Given the description of an element on the screen output the (x, y) to click on. 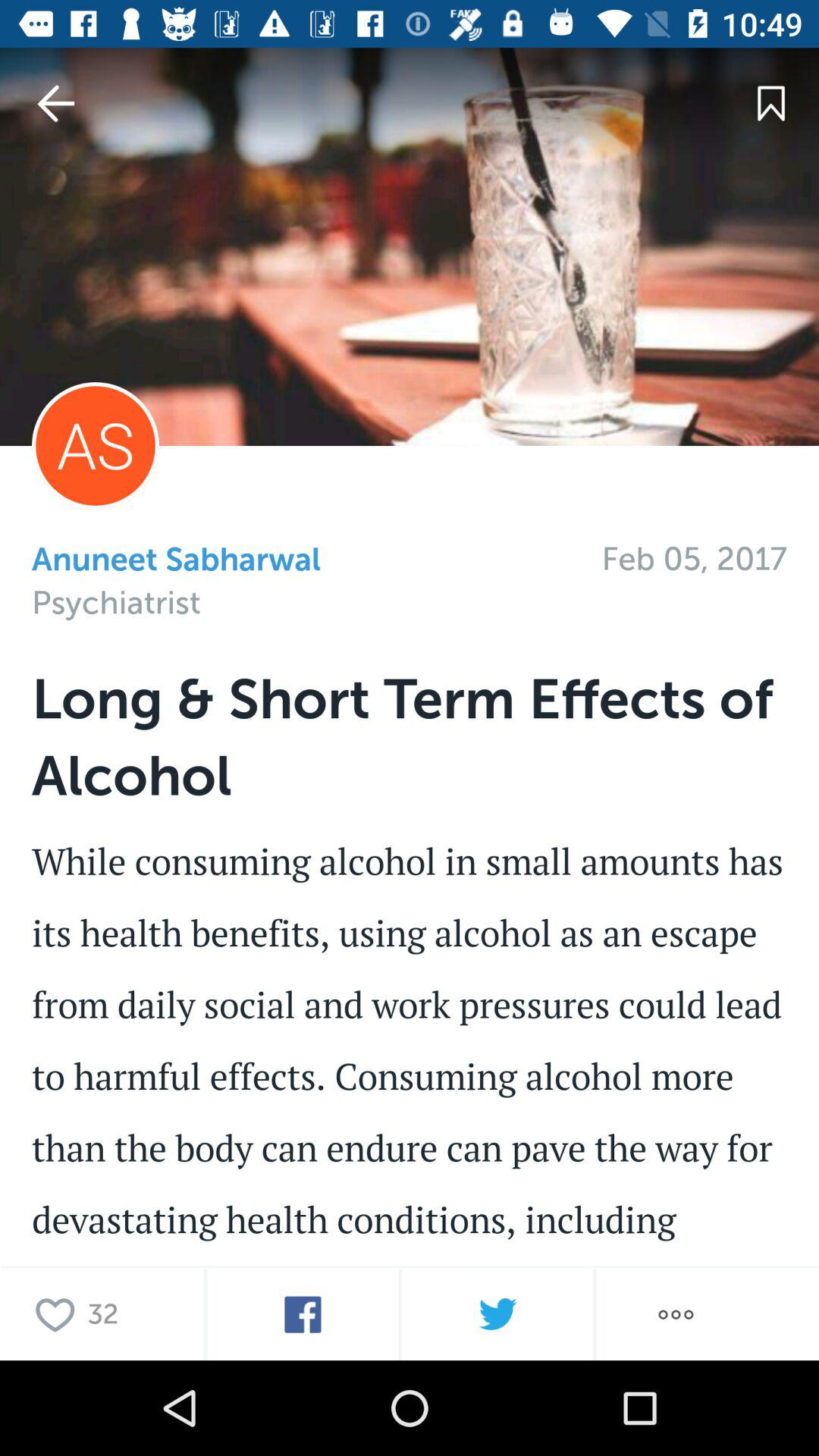
more options (675, 1314)
